Given the description of an element on the screen output the (x, y) to click on. 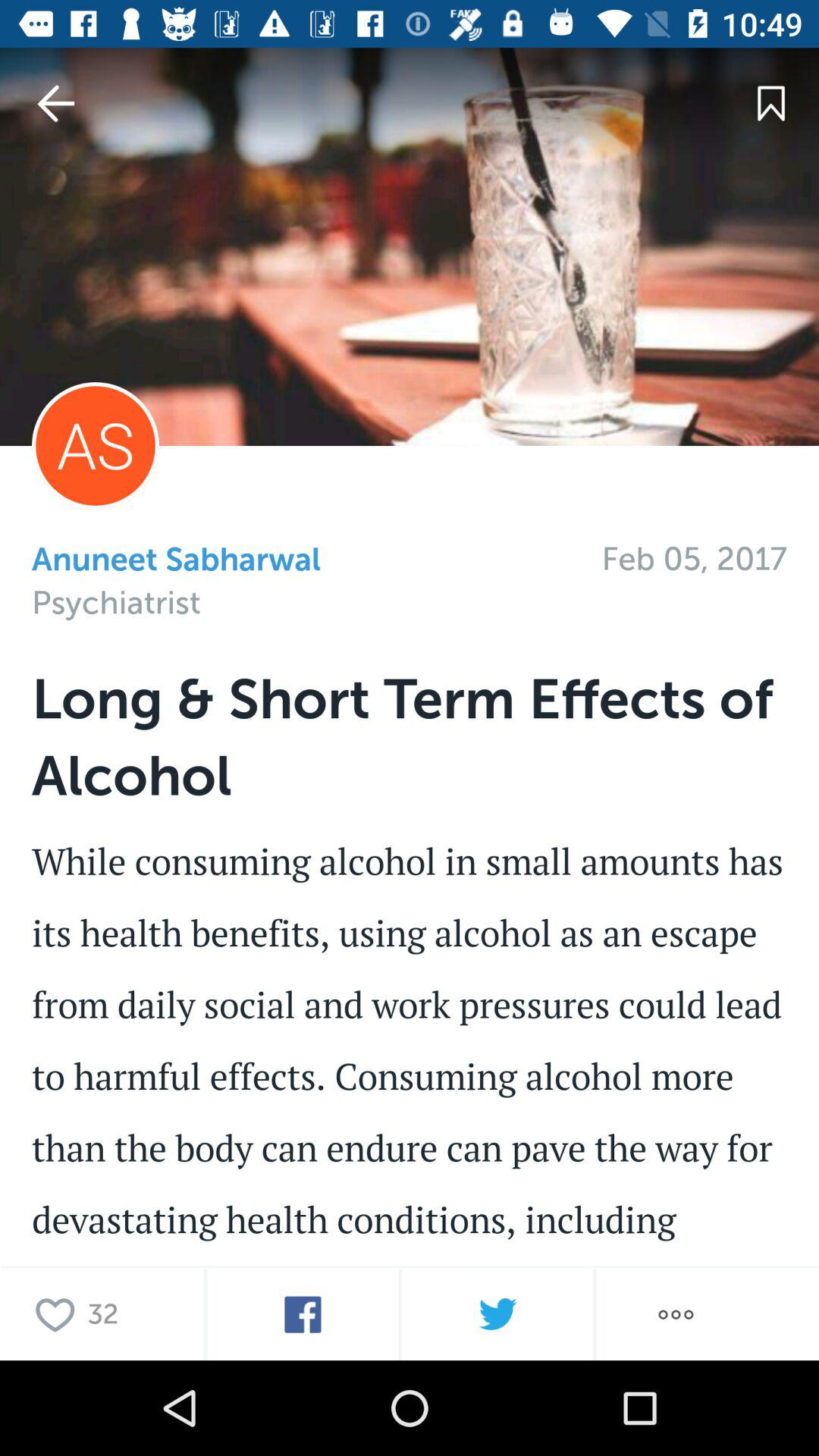
more options (675, 1314)
